Given the description of an element on the screen output the (x, y) to click on. 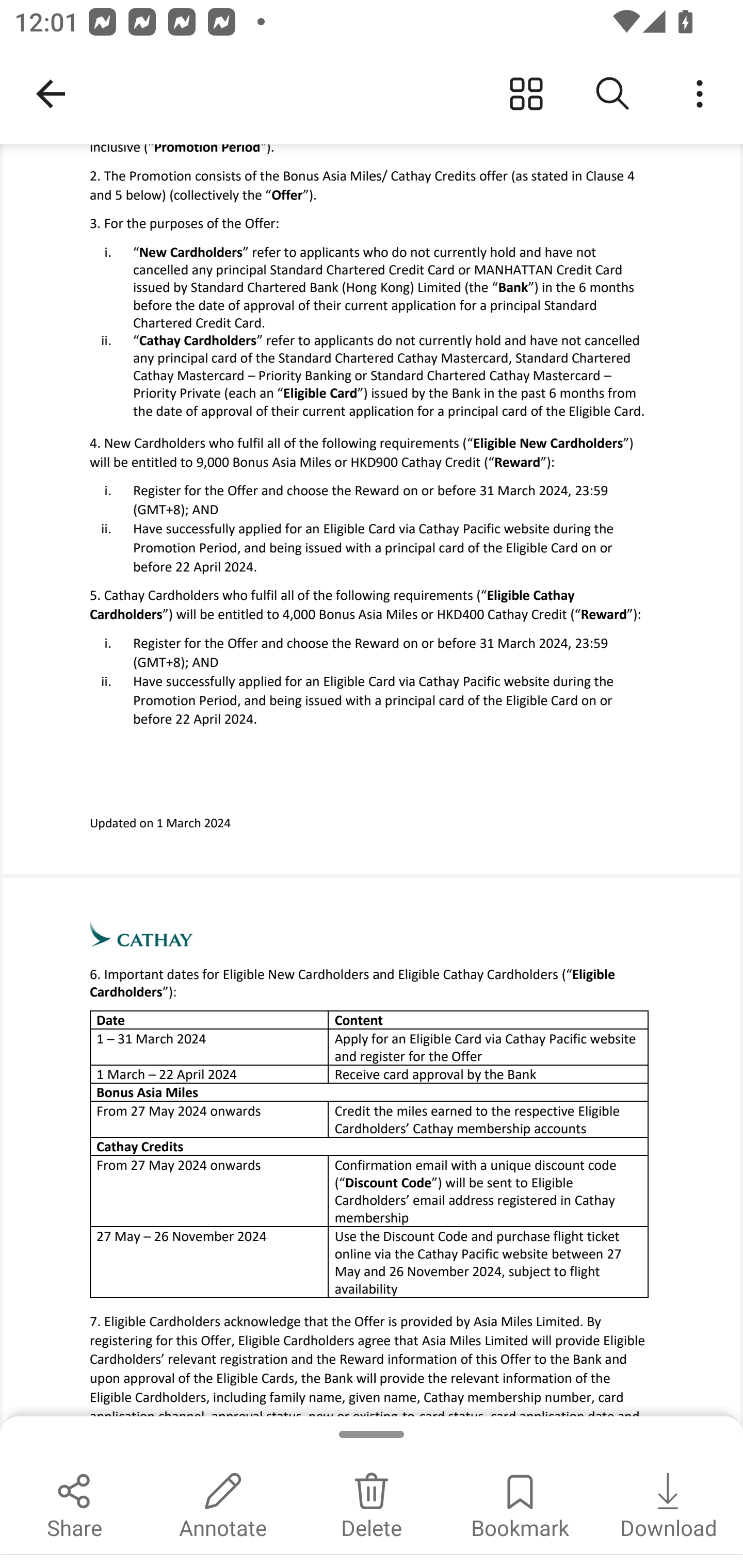
Navigate up (50, 93)
button (525, 93)
button (612, 93)
button (699, 93)
Share (74, 1502)
Annotate (222, 1502)
Delete (371, 1502)
Bookmark, unselected Bookmark (519, 1502)
Download (668, 1502)
